Given the description of an element on the screen output the (x, y) to click on. 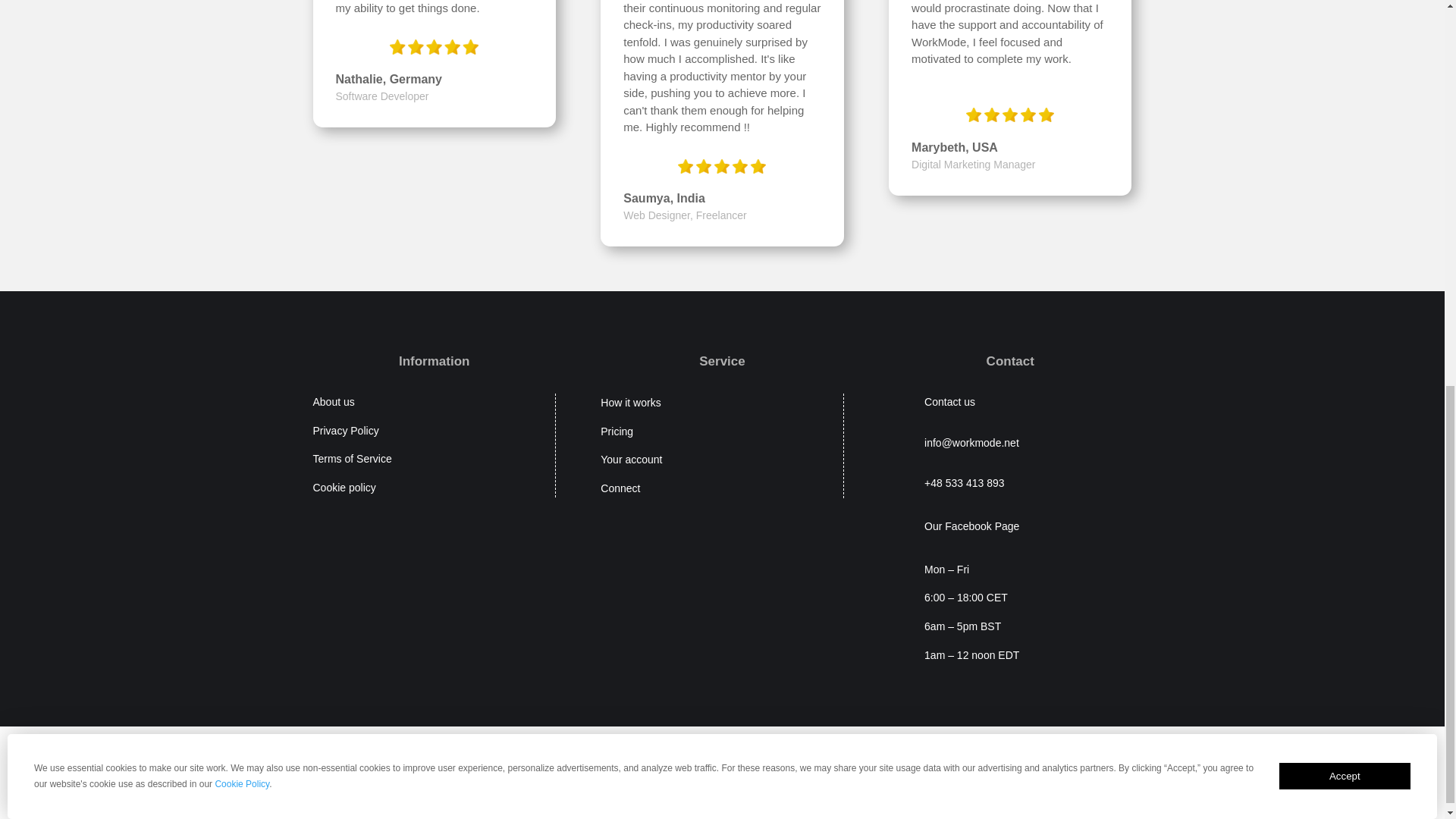
About us (333, 401)
Your account (630, 459)
Contact us (949, 401)
Cookie Policy (241, 783)
Cookie policy (344, 487)
How it works (630, 402)
Connect (619, 488)
Pricing (616, 431)
Accept (1344, 775)
Contact us page (949, 401)
Privacy Policy (345, 430)
Our Facebook Page (971, 526)
Terms of Service (352, 458)
